Given the description of an element on the screen output the (x, y) to click on. 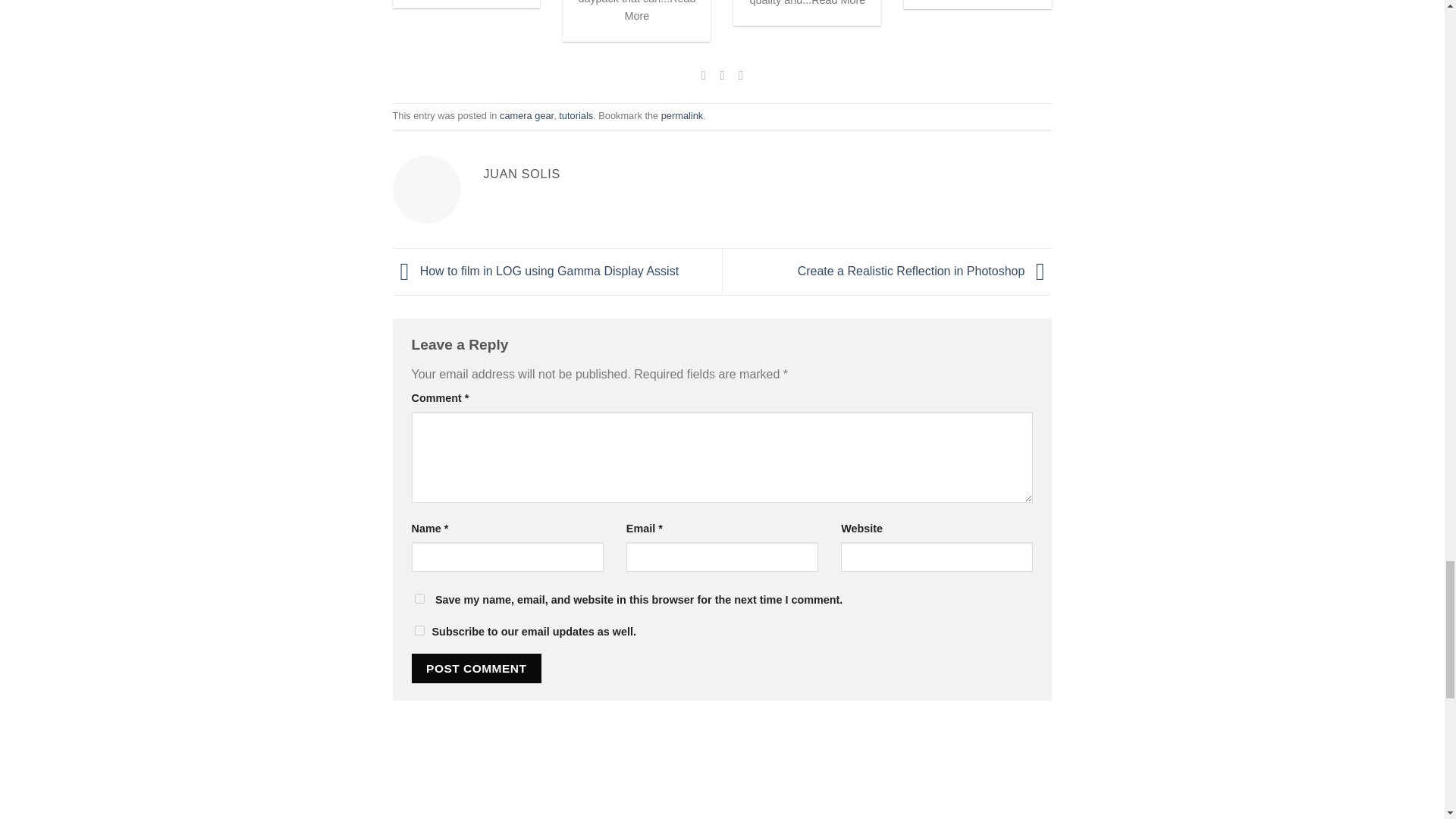
Share on Facebook (703, 74)
Pin on Pinterest (740, 74)
yes (418, 630)
Post Comment (475, 668)
Share on Twitter (722, 74)
yes (418, 598)
